Given the description of an element on the screen output the (x, y) to click on. 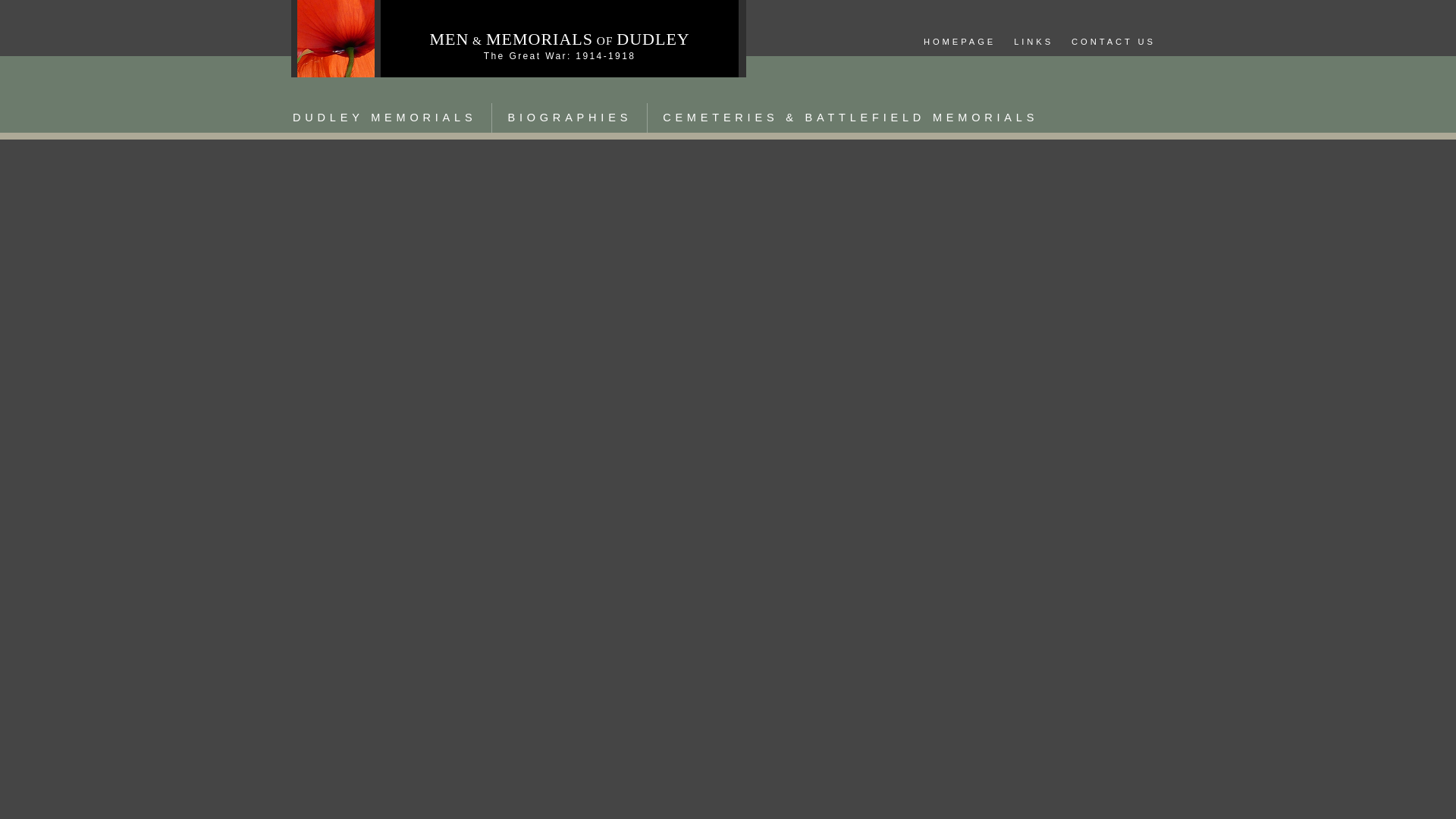
HOMEPAGE (959, 42)
Homepage (959, 42)
Contact Us (1113, 42)
Dudley Memorials (385, 117)
BIOGRAPHIES (569, 117)
DUDLEY MEMORIALS (385, 117)
Other Memorials (849, 117)
Links (1033, 42)
LINKS (1033, 42)
CONTACT US (1113, 42)
